Given the description of an element on the screen output the (x, y) to click on. 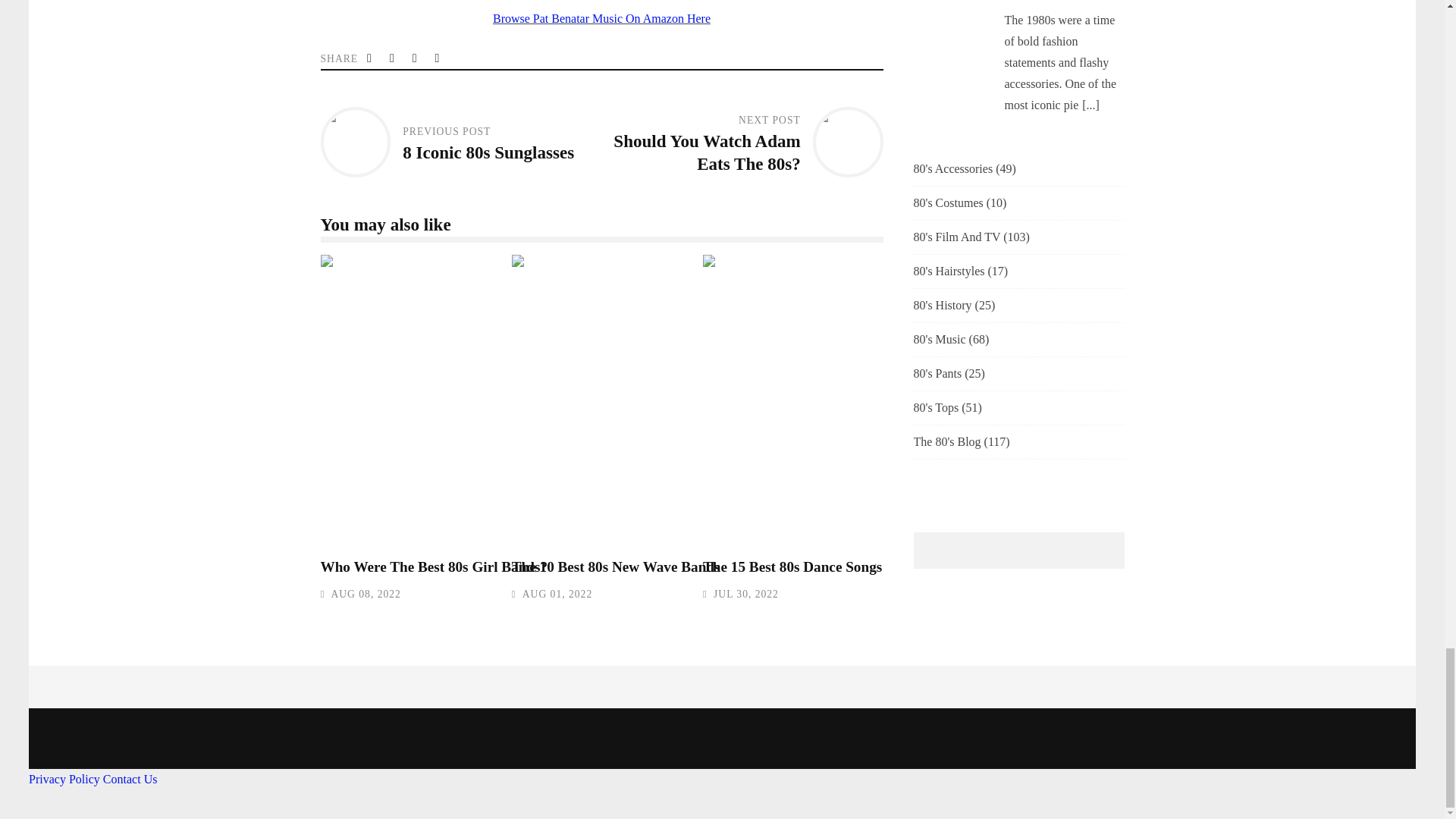
Should You Watch Adam Eats The 80s? (705, 152)
Who Were The Best 80s Girl Bands? (538, 400)
Browse Pat Benatar Music On Amazon Here (601, 18)
Tweet This! (370, 57)
Share on Facebook (393, 57)
The 15 Best 80s Dance Songs (921, 400)
The 10 Best 80s New Wave Bands (616, 566)
Share on LinkedIn (416, 57)
Pin this! (438, 57)
Who Were The Best 80s Girl Bands? (433, 566)
The 15 Best 80s Dance Songs (792, 566)
Share on LinkedIn (416, 57)
8 Iconic 80s Sunglasses (488, 152)
The 10 Best 80s New Wave Bands (730, 400)
Share on Facebook (393, 57)
